Given the description of an element on the screen output the (x, y) to click on. 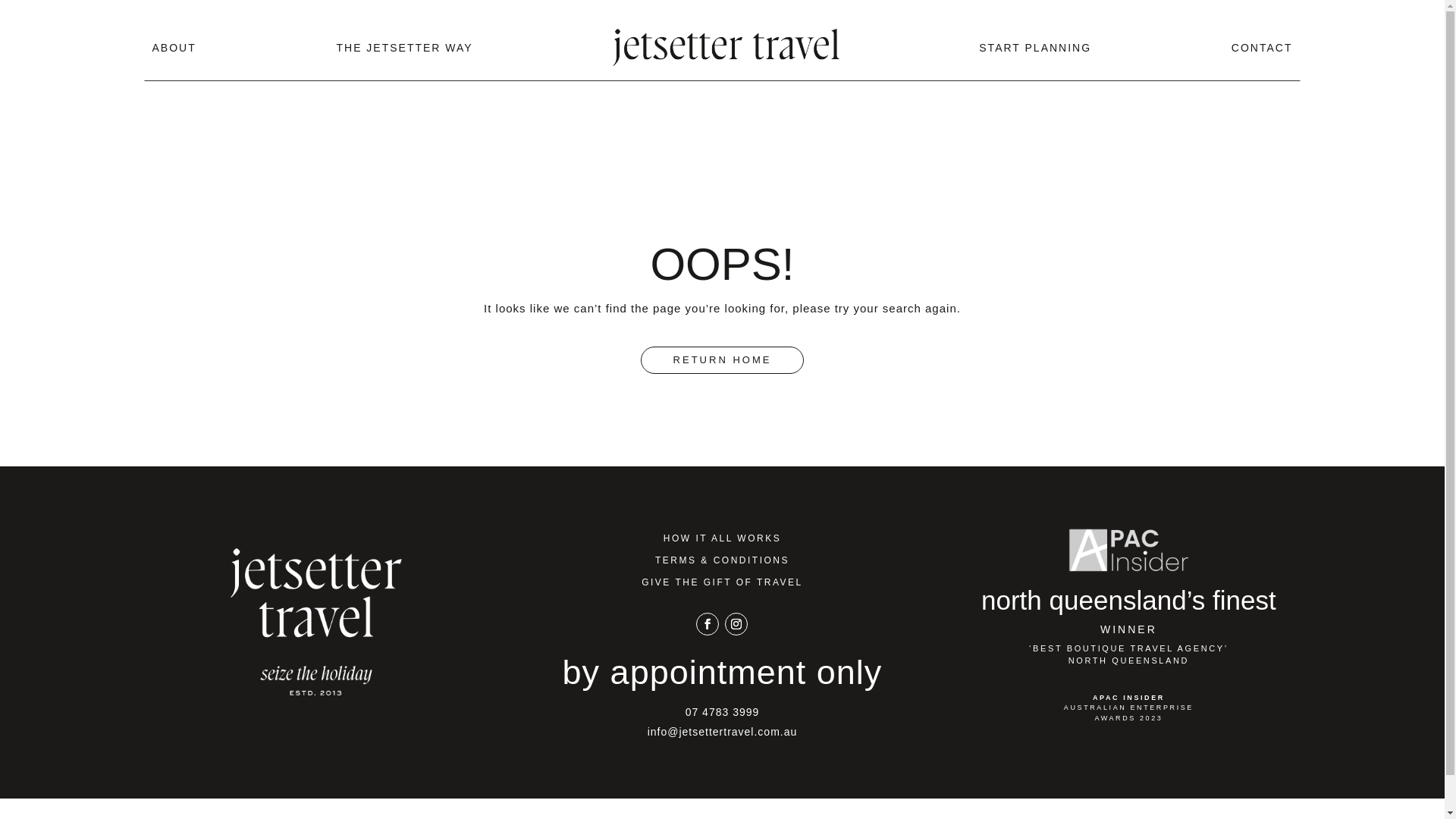
Follow on Instagram Element type: hover (735, 623)
CONTACT Element type: text (1261, 46)
apac-logo-light-3 Element type: hover (1128, 549)
HOW IT ALL WORKS Element type: text (722, 538)
RETURN HOME Element type: text (722, 359)
Follow on Facebook Element type: hover (707, 623)
ABOUT Element type: text (173, 46)
TERMS & CONDITIONS Element type: text (722, 560)
THE JETSETTER WAY Element type: text (404, 46)
GIVE THE GIFT OF TRAVEL Element type: text (722, 582)
START PLANNING Element type: text (1034, 46)
Jetsetter Travel_Stacked_White Element type: hover (315, 621)
